Given the description of an element on the screen output the (x, y) to click on. 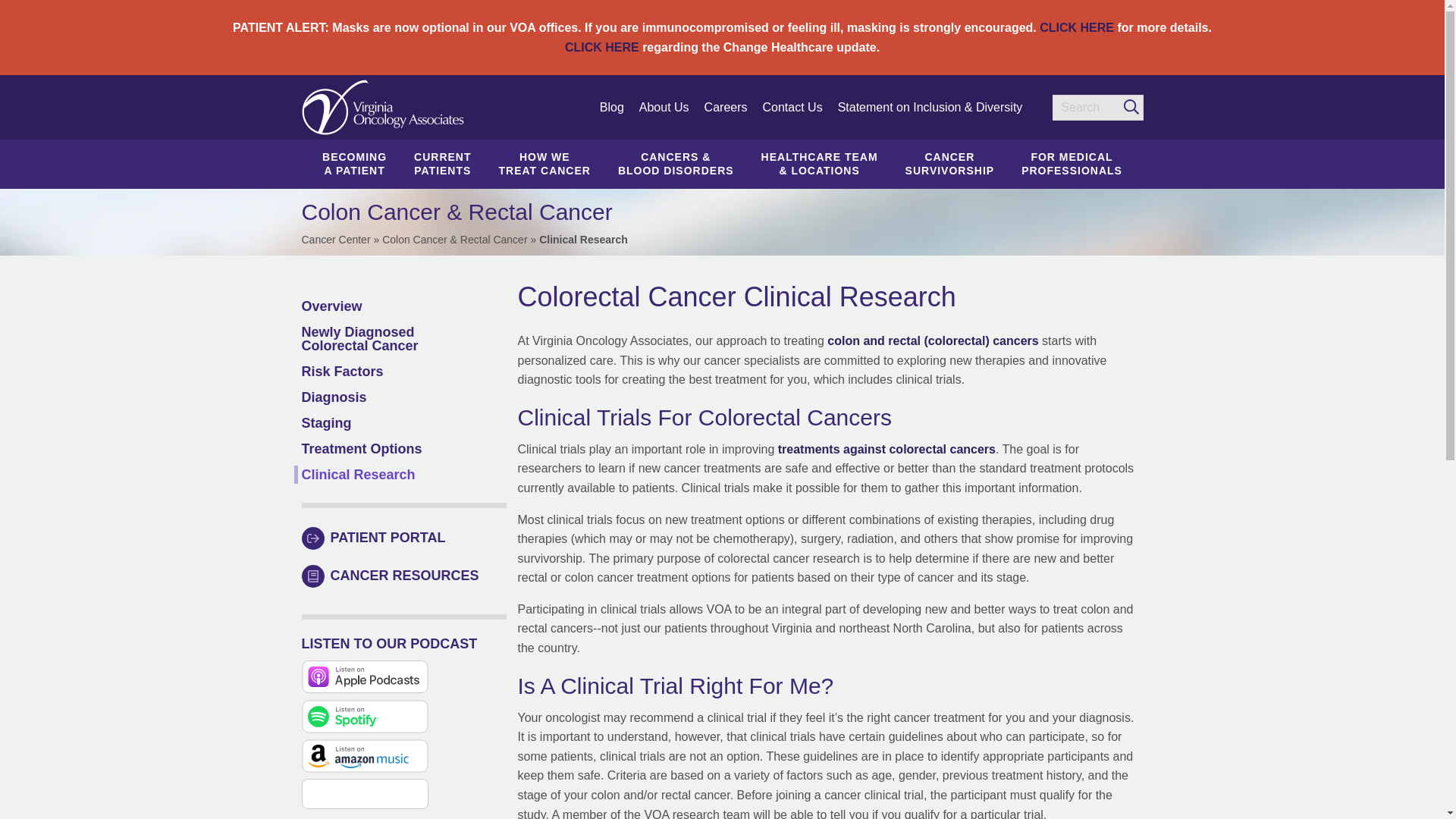
Contact Us (792, 107)
Careers (544, 163)
CLICK HERE (442, 163)
CLICK HERE (726, 107)
About Us (1076, 27)
Blog (601, 47)
